Given the description of an element on the screen output the (x, y) to click on. 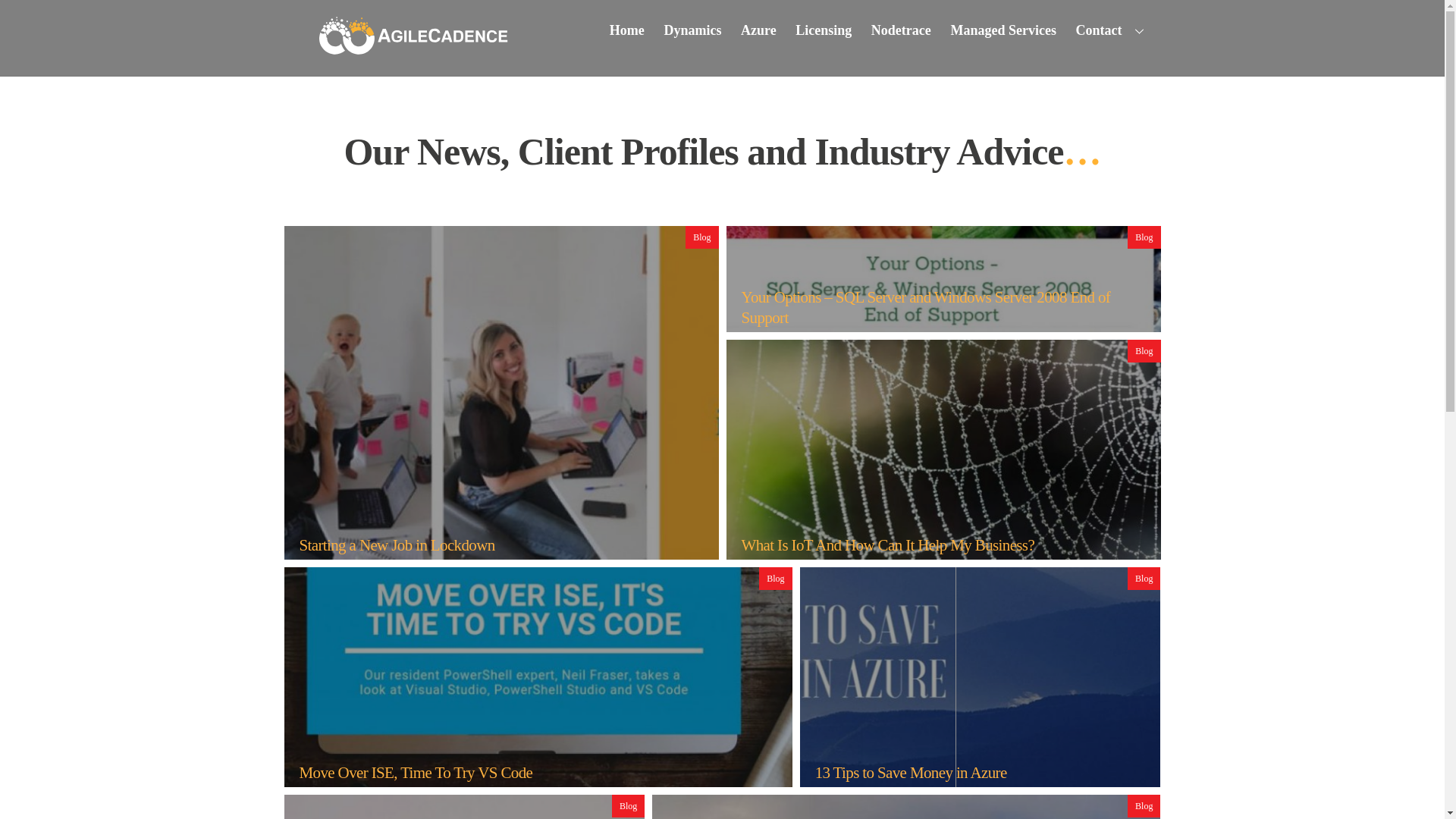
Move Over ISE, Time To Try VS Code (526, 677)
Home (626, 30)
Dynamics (693, 30)
13 Tips to Save Money in Azure (969, 677)
Contact (1111, 30)
Nodetrace (901, 30)
Azure (758, 30)
AgileCadence (414, 47)
